Given the description of an element on the screen output the (x, y) to click on. 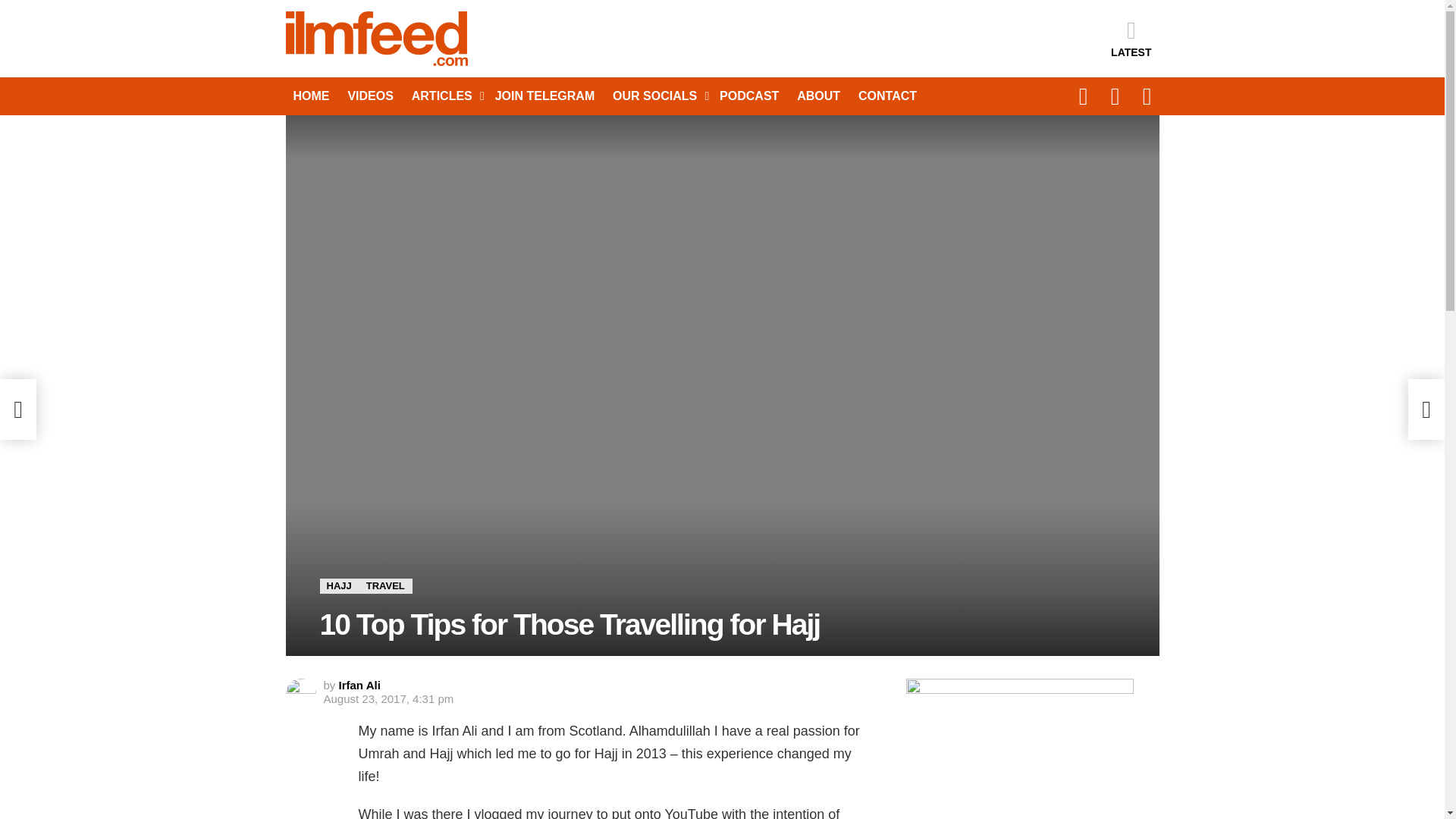
OUR SOCIALS (657, 96)
PODCAST (748, 96)
CONTACT (887, 96)
Posts by Irfan Ali (359, 684)
JOIN TELEGRAM (544, 96)
ABOUT (818, 96)
ARTICLES (444, 96)
More (444, 96)
HOME (310, 96)
LATEST (1130, 38)
VIDEOS (369, 96)
